Given the description of an element on the screen output the (x, y) to click on. 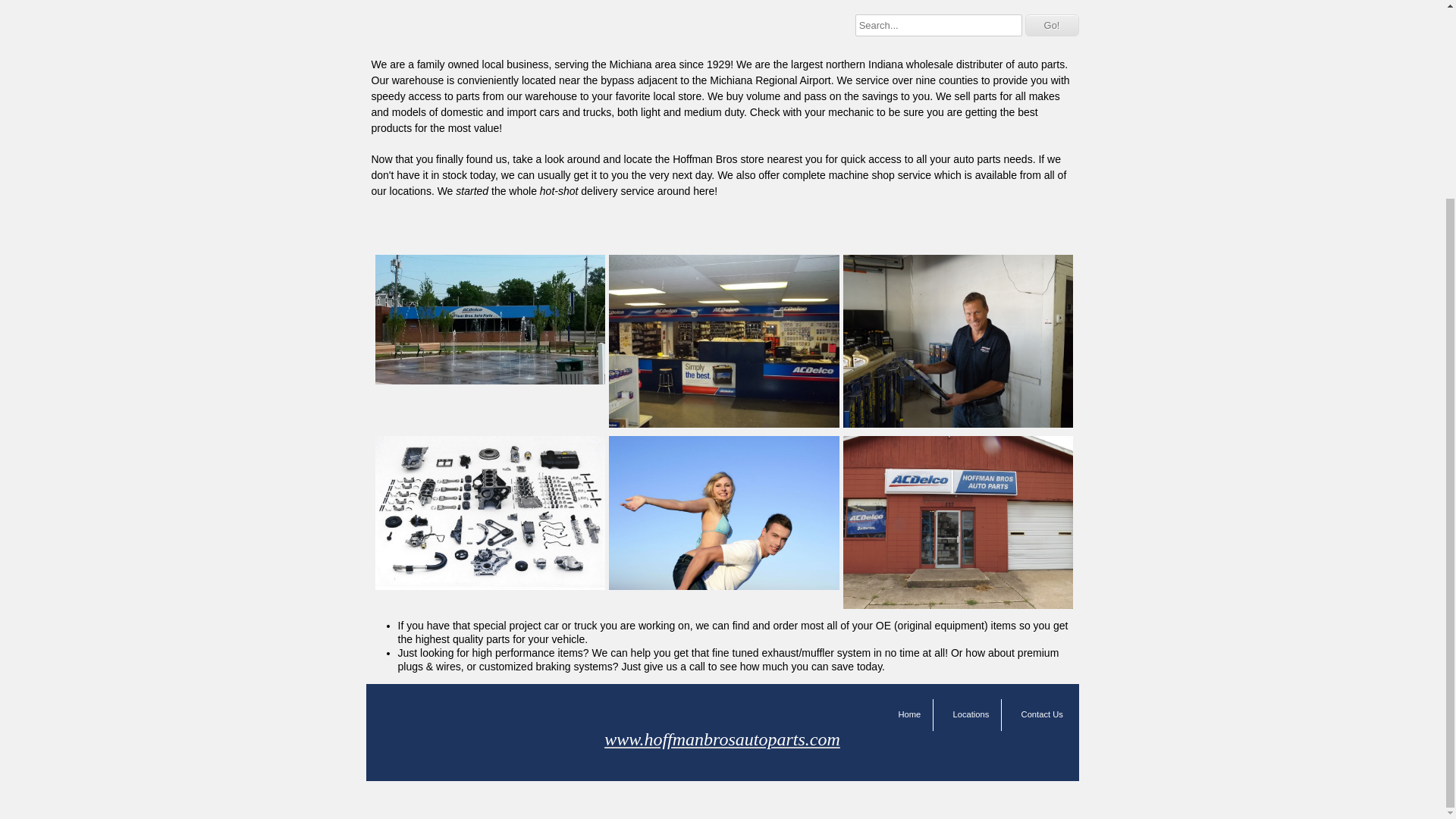
Locations (969, 714)
Go! (1051, 25)
Hoffmans Elkhart South (958, 604)
Exploded block (489, 585)
Home (908, 714)
Go! (1051, 25)
Home (908, 714)
www.hoffmanbrosautoparts.com (722, 739)
Contact Us (1041, 714)
Super Counterman Mark K (958, 423)
Go! (1051, 25)
Contact Us (1041, 714)
Locations (969, 714)
